Given the description of an element on the screen output the (x, y) to click on. 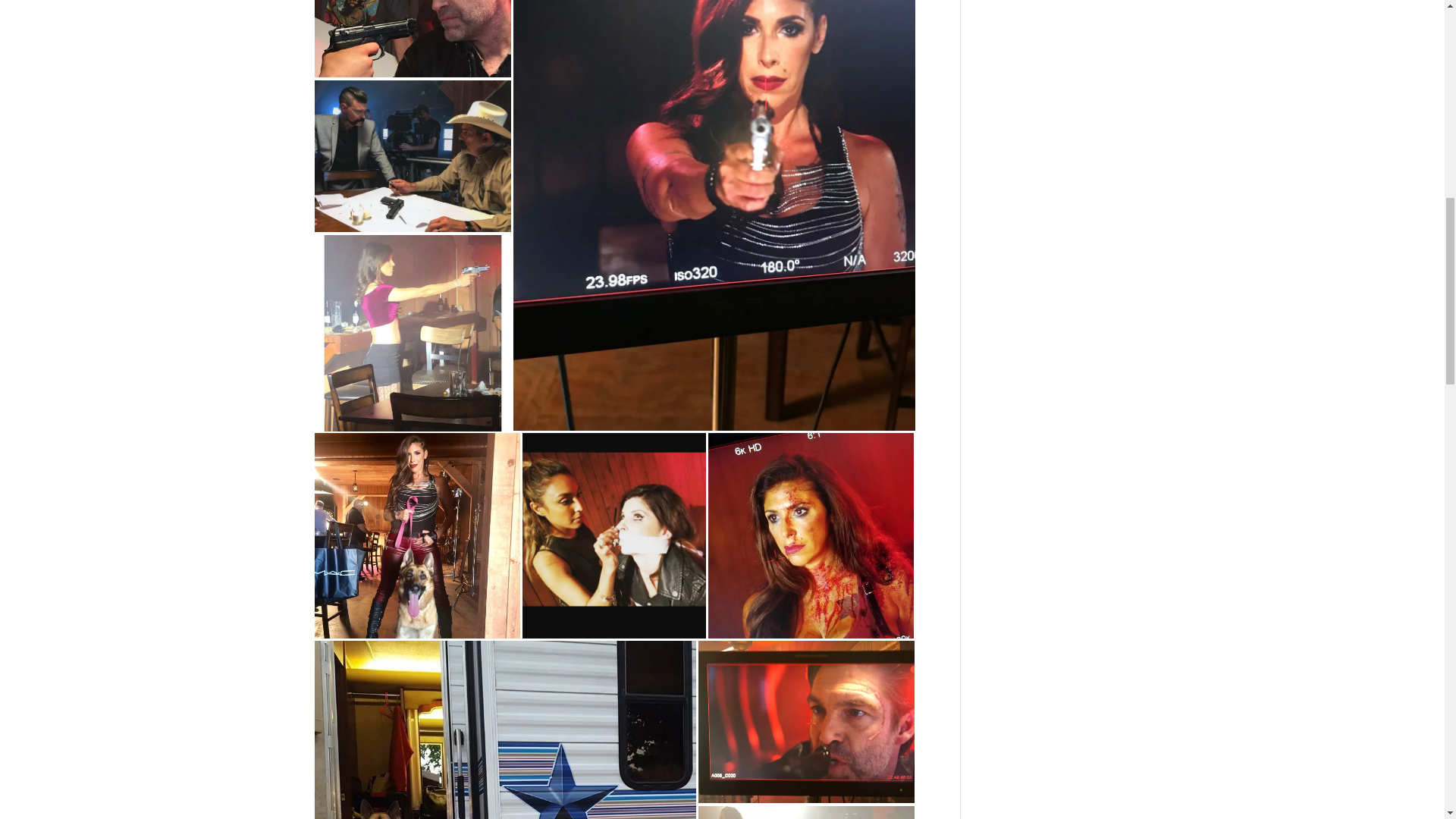
KillerRoseInstagramBTSPhotos2-03 (412, 333)
KillerRoseInstagramBTSPhotos2-05 (416, 535)
KillerRoseInstagramBTSPhotos2-02 (412, 155)
KillerRoseInstagramBTSPhotos2-08 (504, 729)
KillerRoseInstagramBTSPhotos2-06 (612, 535)
KillerRoseInstagramBTSPhotos2-01 (412, 38)
KillerRoseInstagramBTSPhotos2-09 (805, 721)
KillerRoseInstagramBTSPhotos2-07 (810, 535)
